Given the description of an element on the screen output the (x, y) to click on. 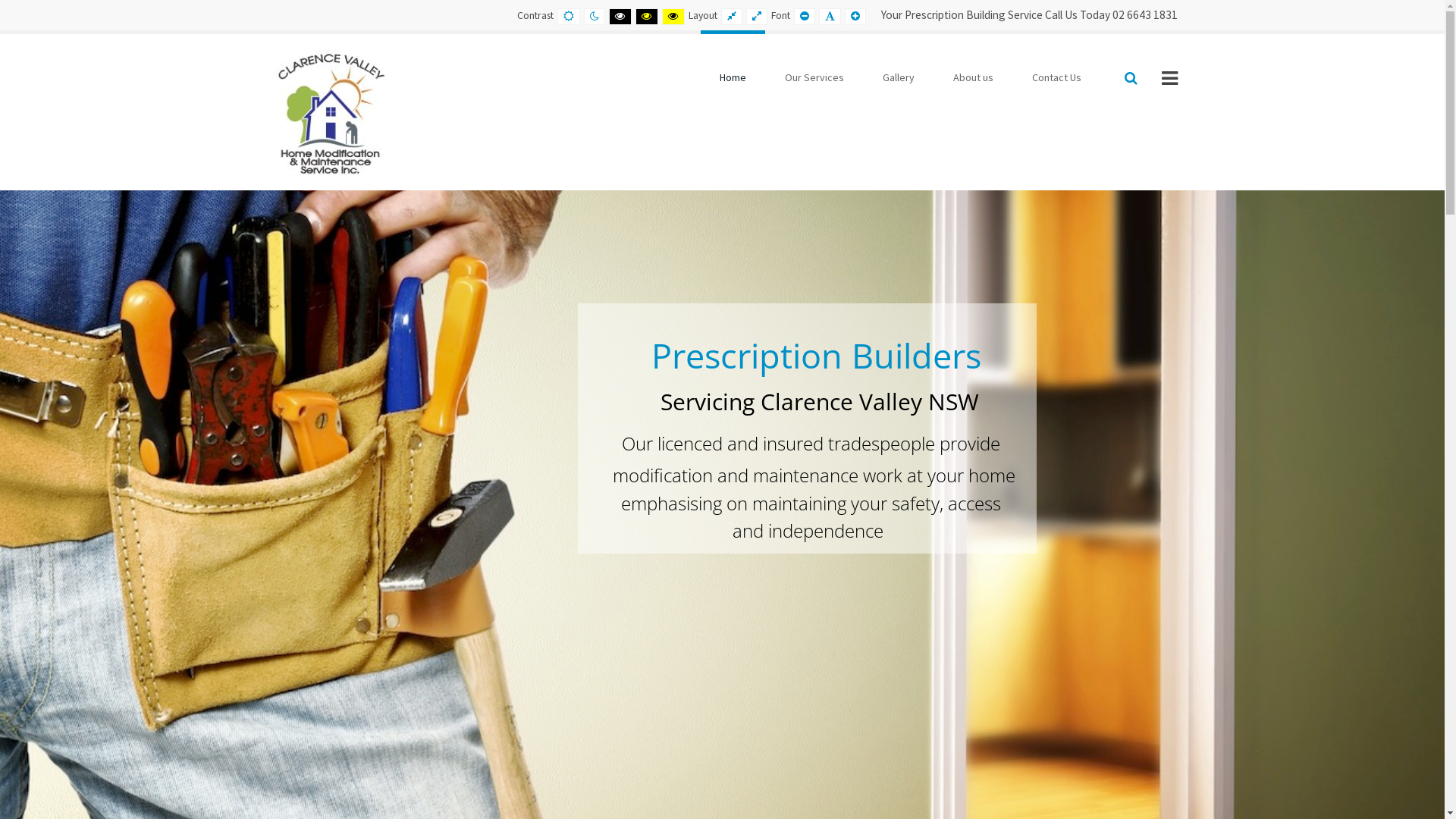
About us Element type: text (973, 77)
SEARCH Element type: text (1131, 77)
Default contrast Element type: text (567, 16)
Smaller Font Element type: text (803, 16)
Gallery Element type: text (897, 77)
Offcanvas Sidebar Element type: text (1169, 77)
Our Services Element type: text (813, 77)
Black and Yellow contrast Element type: text (646, 16)
Yellow and Black contrast Element type: text (672, 16)
Contact Us Element type: text (1056, 77)
Fixed layout Element type: text (730, 16)
CVHMMS Inc. Element type: hover (326, 110)
Larger Font Element type: text (855, 16)
Night contrast Element type: text (594, 16)
Home Element type: text (732, 77)
Default Font Element type: text (829, 16)
Black and White contrast Element type: text (619, 16)
Wide layout Element type: text (756, 16)
